Given the description of an element on the screen output the (x, y) to click on. 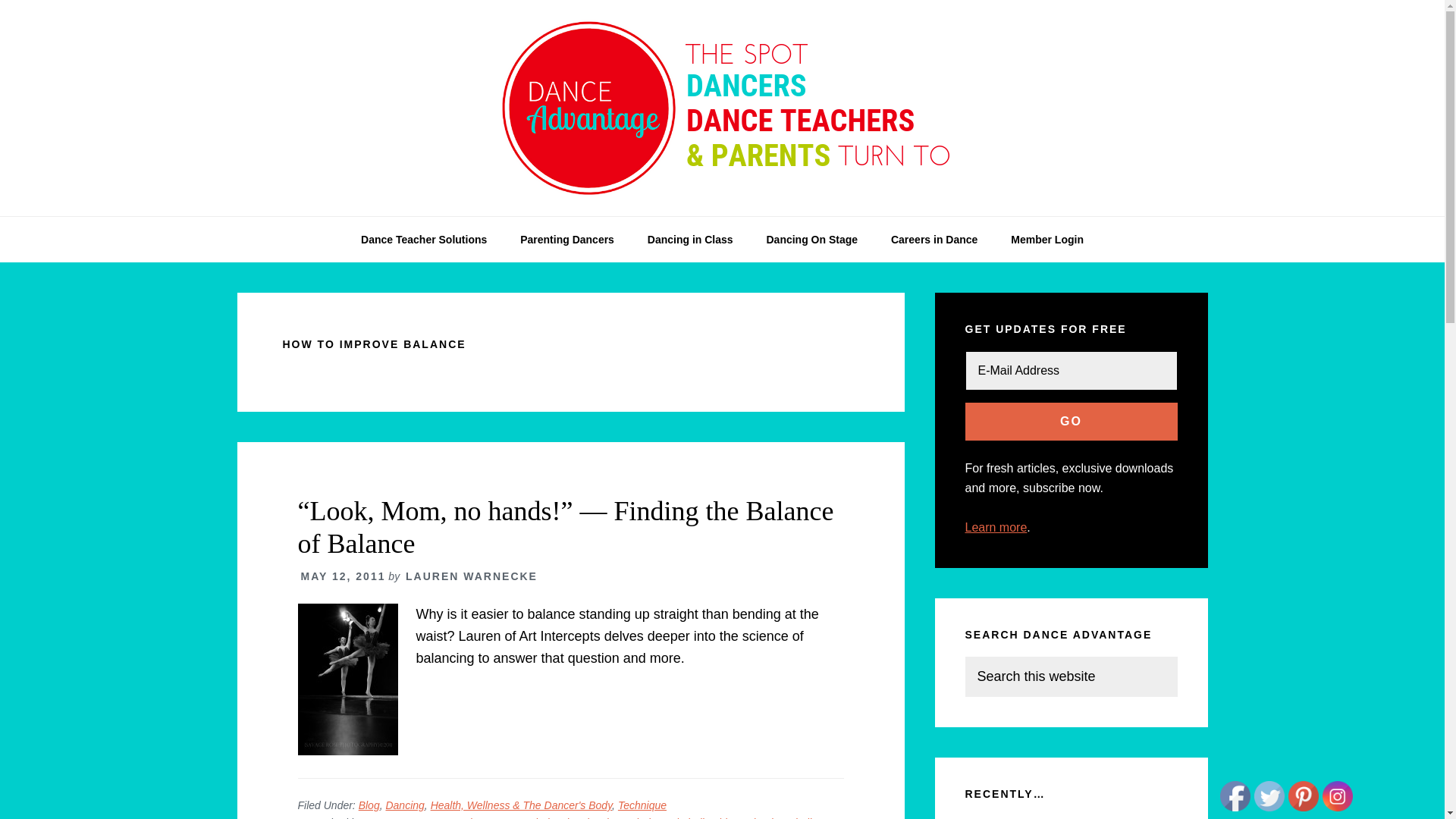
Solutions for dance teachers (424, 239)
Parenting Dancers (566, 239)
Subscriber and Customer Login (1047, 239)
Dance performance topics and tips (811, 239)
Careers in Dance (934, 239)
Member Login (1047, 239)
Technique (641, 805)
Tips, advice, and topics for dance students (689, 239)
Art Intercepts (393, 817)
